Given the description of an element on the screen output the (x, y) to click on. 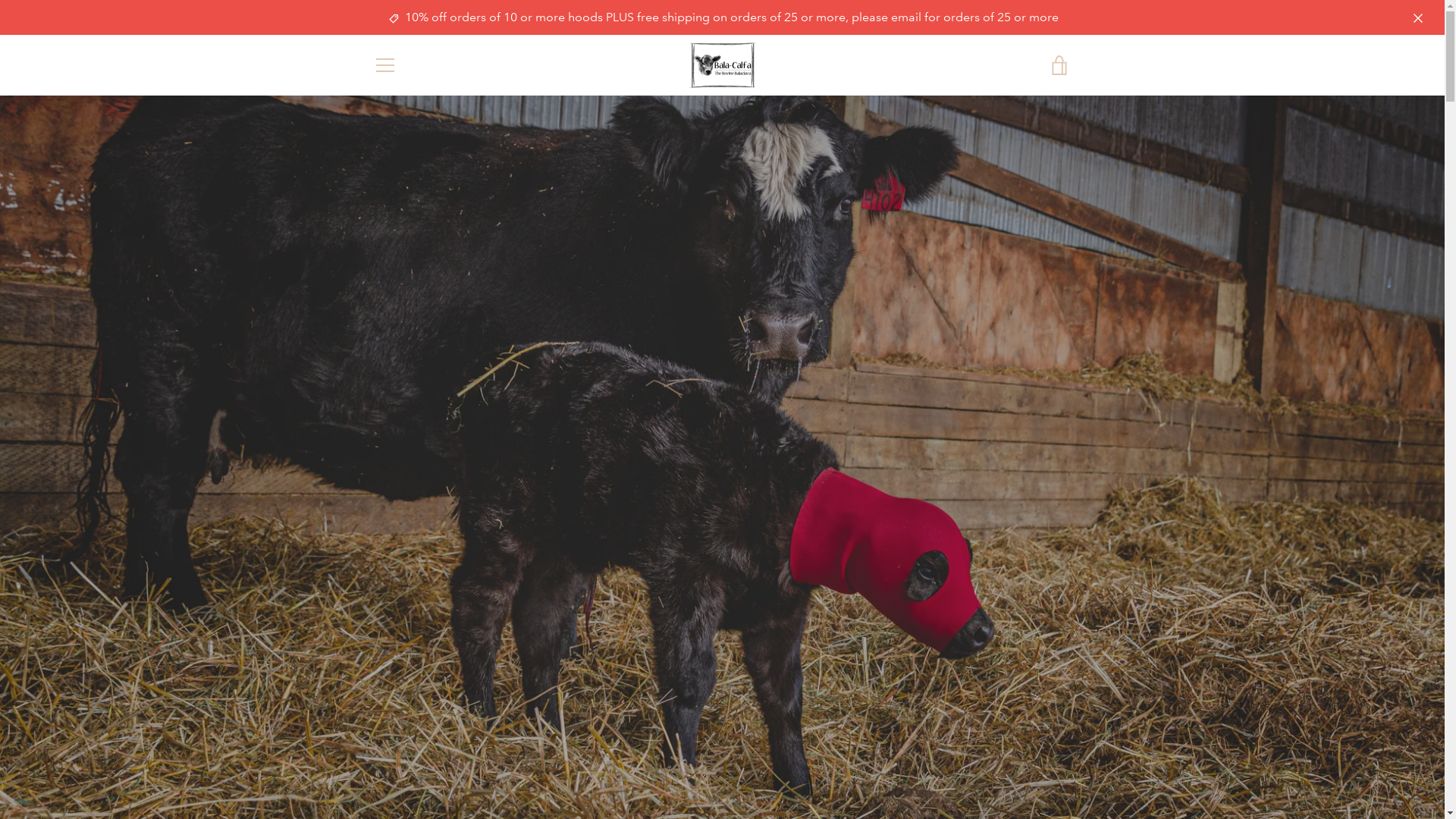
VIEW CART Element type: text (1059, 65)
Skip to content Element type: text (0, 0)
MENU Element type: text (384, 65)
